Given the description of an element on the screen output the (x, y) to click on. 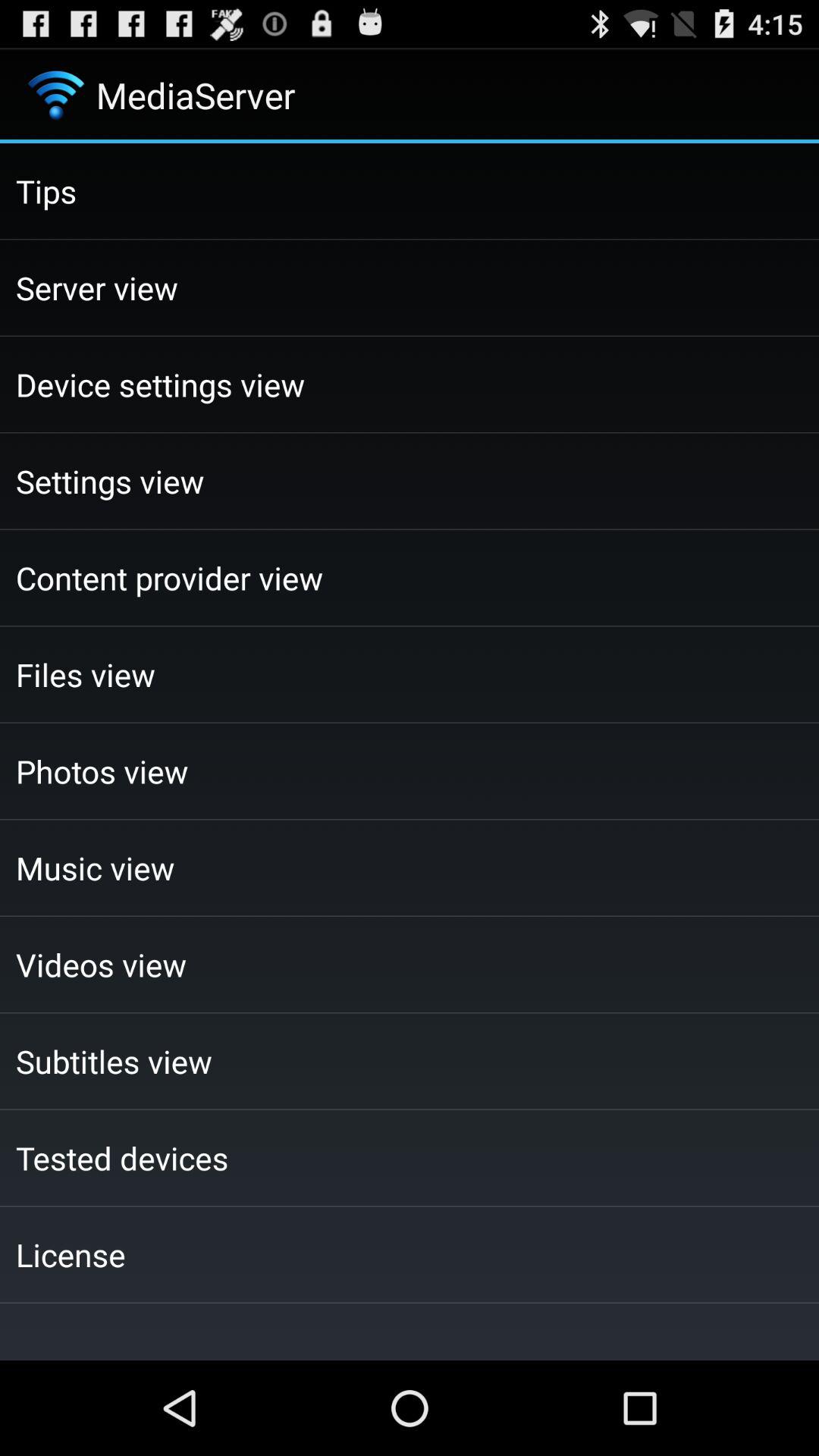
tap the icon above the device settings view checkbox (409, 287)
